Given the description of an element on the screen output the (x, y) to click on. 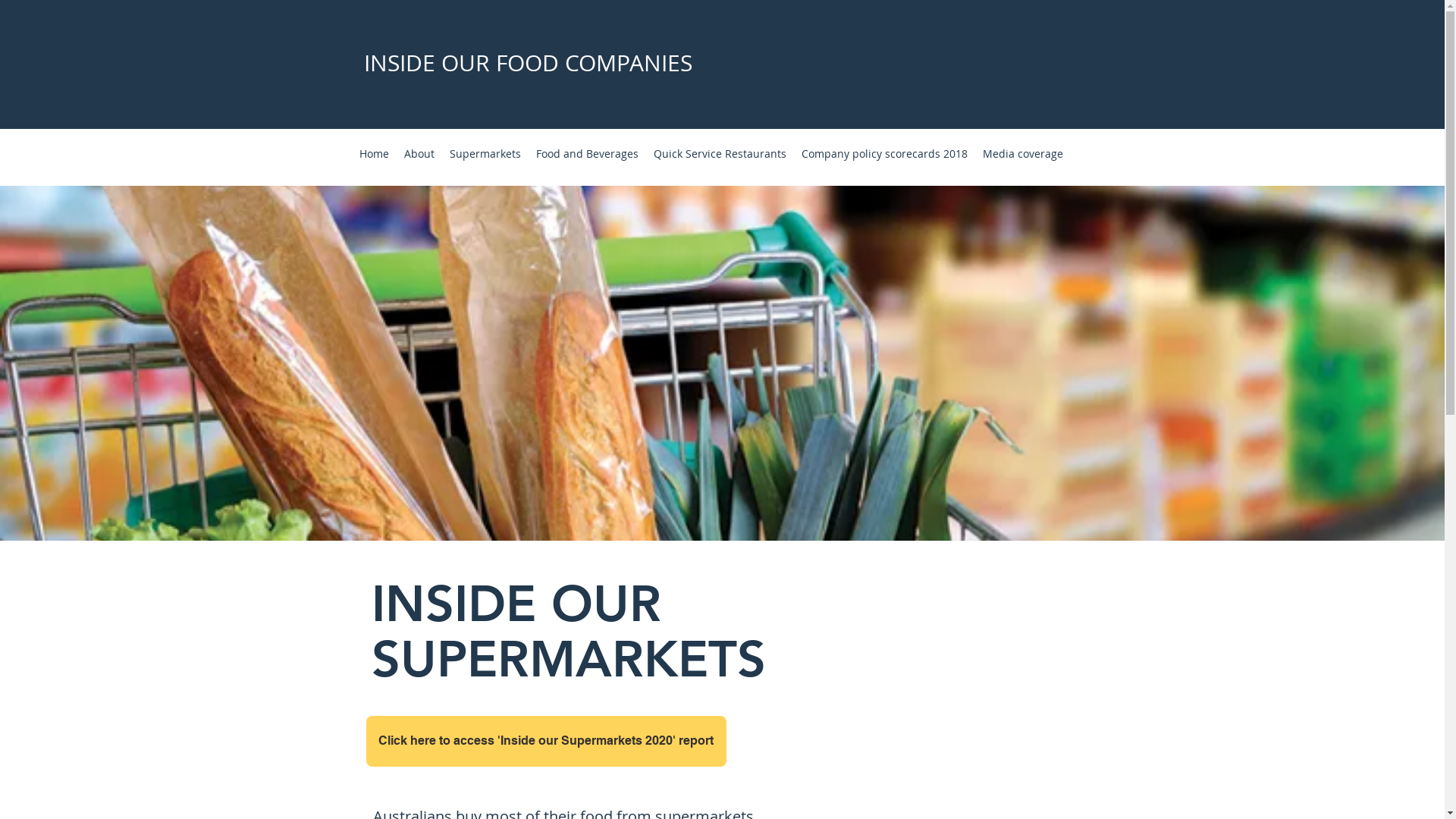
Food and Beverages Element type: text (586, 153)
Home Element type: text (373, 153)
Media coverage Element type: text (1022, 153)
Supermarkets Element type: text (484, 153)
INSIDE OUR FOOD COMPANIES Element type: text (528, 62)
Quick Service Restaurants Element type: text (719, 153)
About Element type: text (418, 153)
Click here to access 'Inside our Supermarkets 2020' report Element type: text (545, 740)
Company policy scorecards 2018 Element type: text (883, 153)
